Given the description of an element on the screen output the (x, y) to click on. 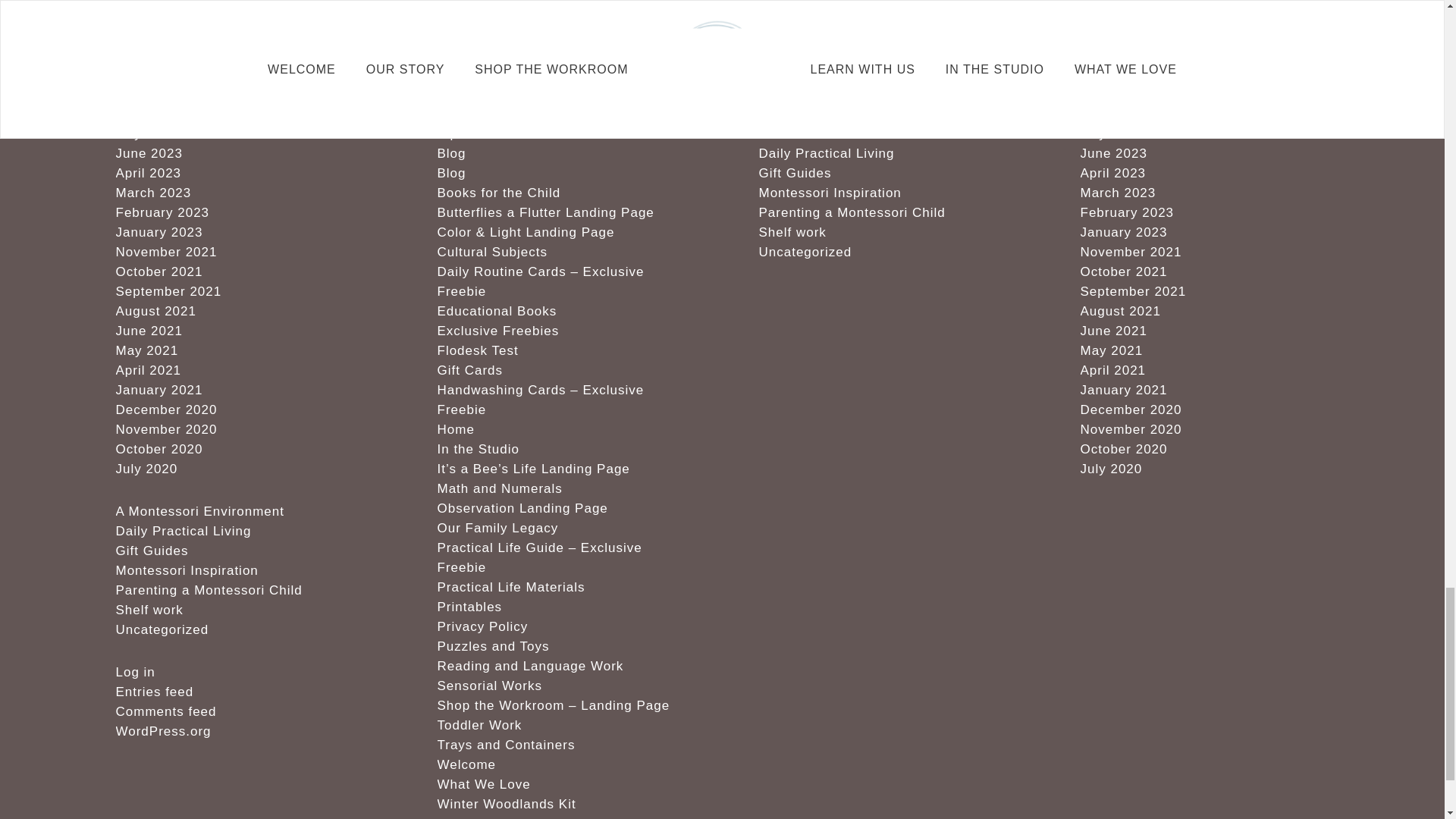
August 2021 (155, 310)
April 2023 (147, 173)
November 2021 (165, 251)
February 2023 (162, 212)
October 2021 (158, 271)
September 2021 (168, 291)
January 2023 (158, 232)
June 2023 (148, 153)
March 2023 (152, 192)
July 2023 (146, 133)
